Given the description of an element on the screen output the (x, y) to click on. 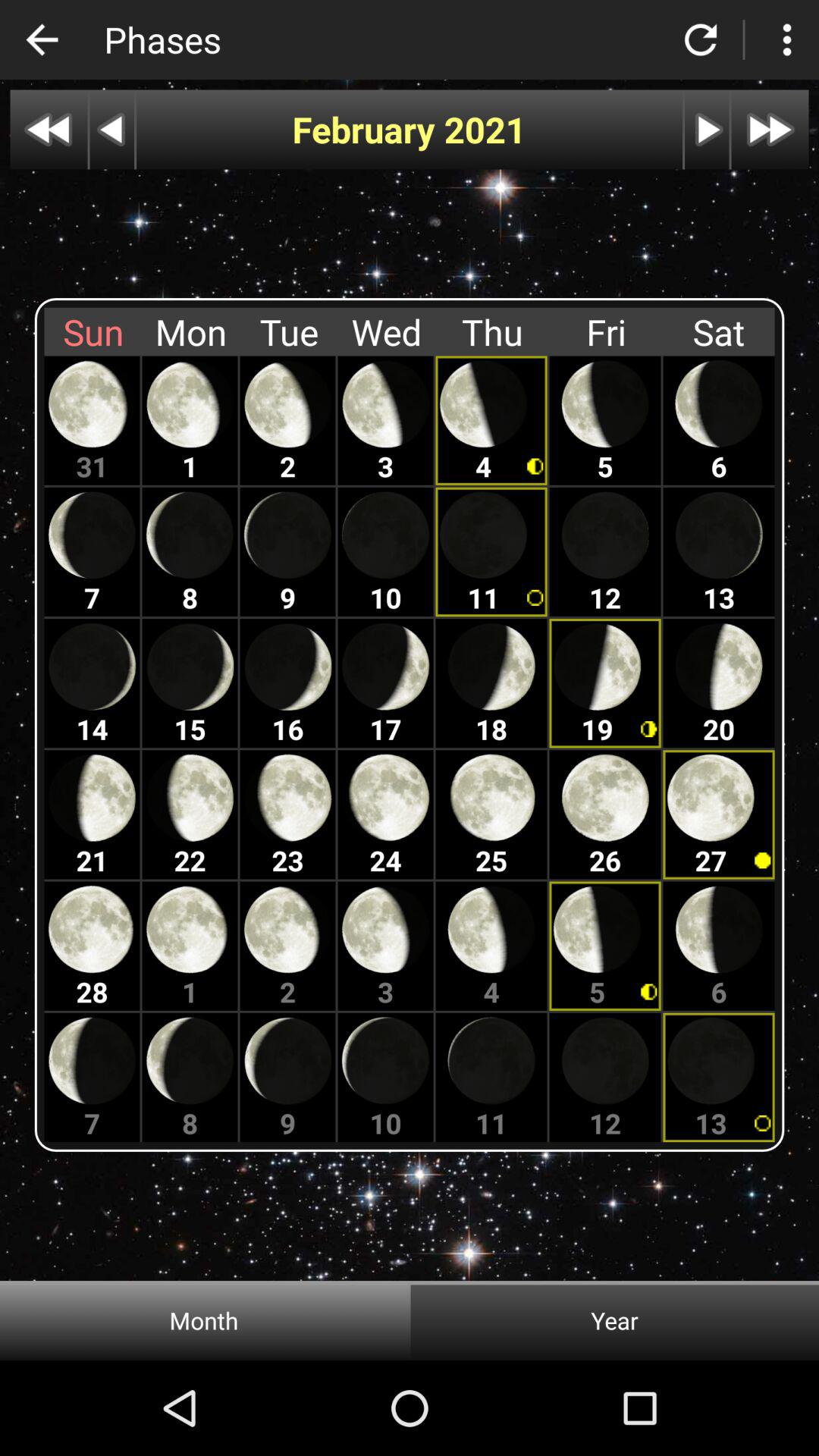
skip forward (769, 129)
